Given the description of an element on the screen output the (x, y) to click on. 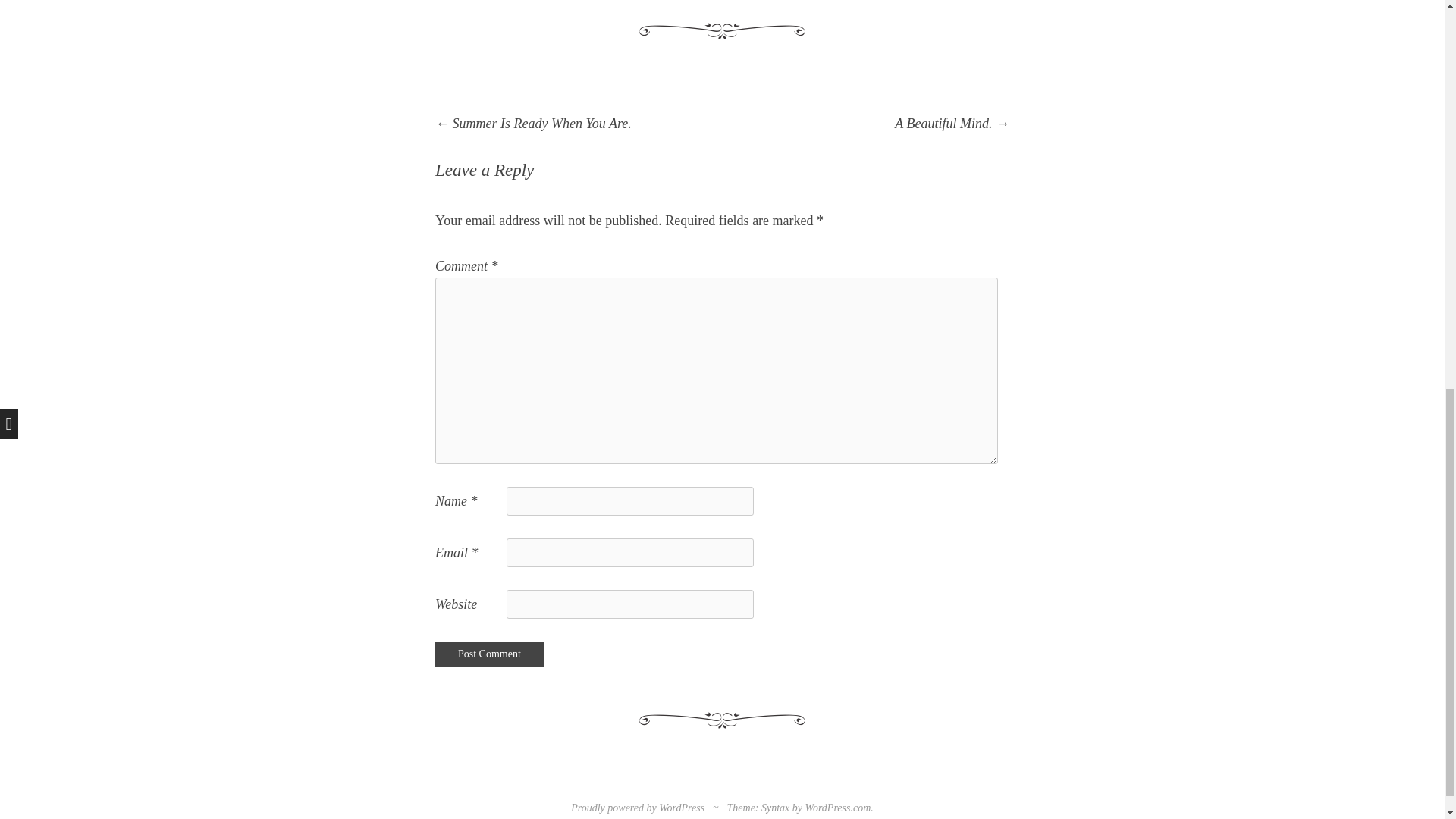
WordPress.com (837, 808)
Post Comment (489, 654)
A Semantic Personal Publishing Platform (637, 808)
Proudly powered by WordPress (637, 808)
Post Comment (489, 654)
